Given the description of an element on the screen output the (x, y) to click on. 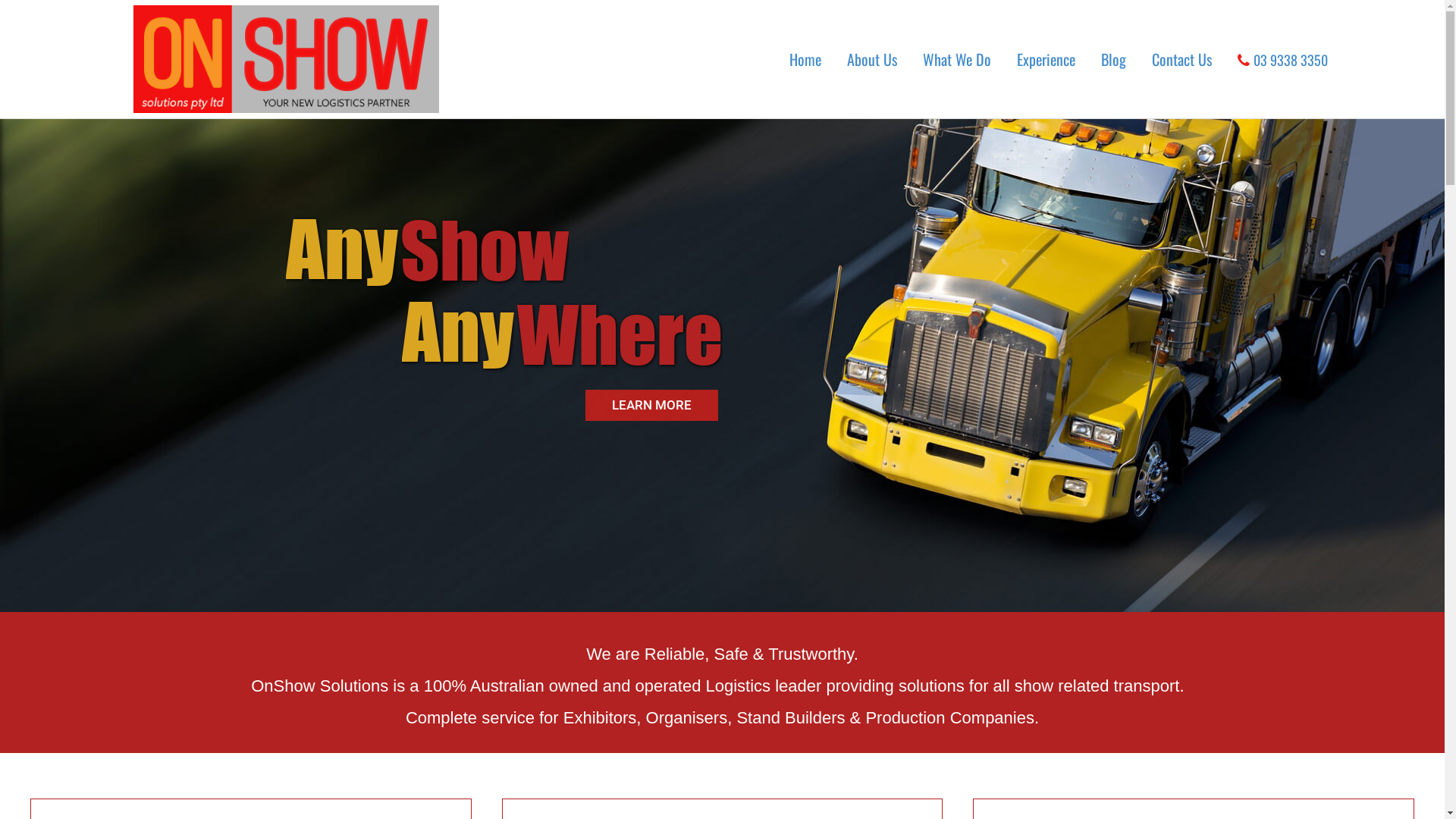
About Us Element type: text (872, 59)
Home Element type: text (805, 59)
What We Do Element type: text (957, 59)
Blog Element type: text (1113, 59)
Experience Element type: text (1046, 59)
Contact Us Element type: text (1181, 59)
03 9338 3350 Element type: text (1282, 59)
